Given the description of an element on the screen output the (x, y) to click on. 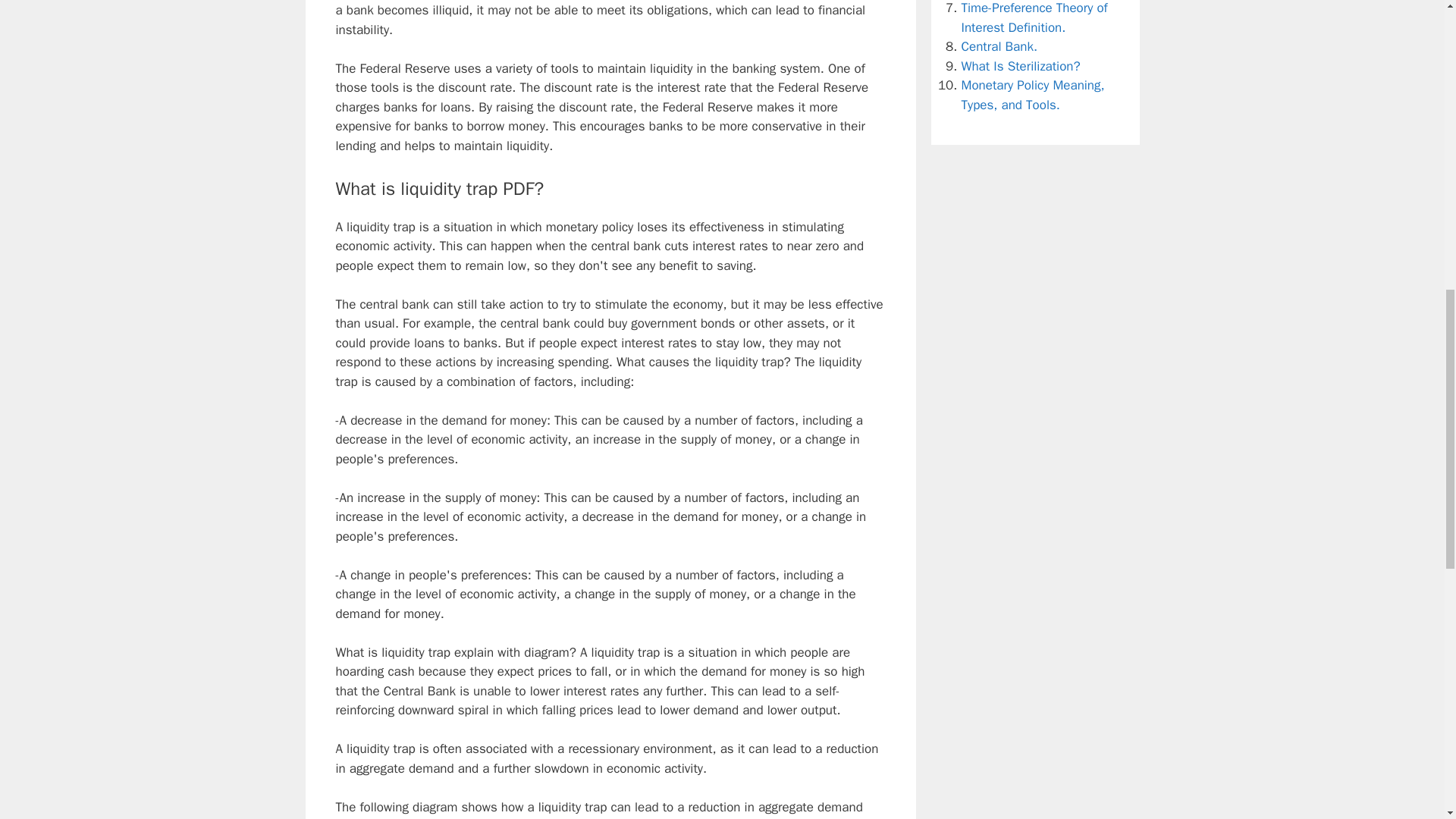
Time-Preference Theory of Interest Definition. (1034, 18)
Central Bank. (999, 46)
What Is Sterilization? (1020, 65)
Monetary Policy Meaning, Types, and Tools. (1032, 94)
